Given the description of an element on the screen output the (x, y) to click on. 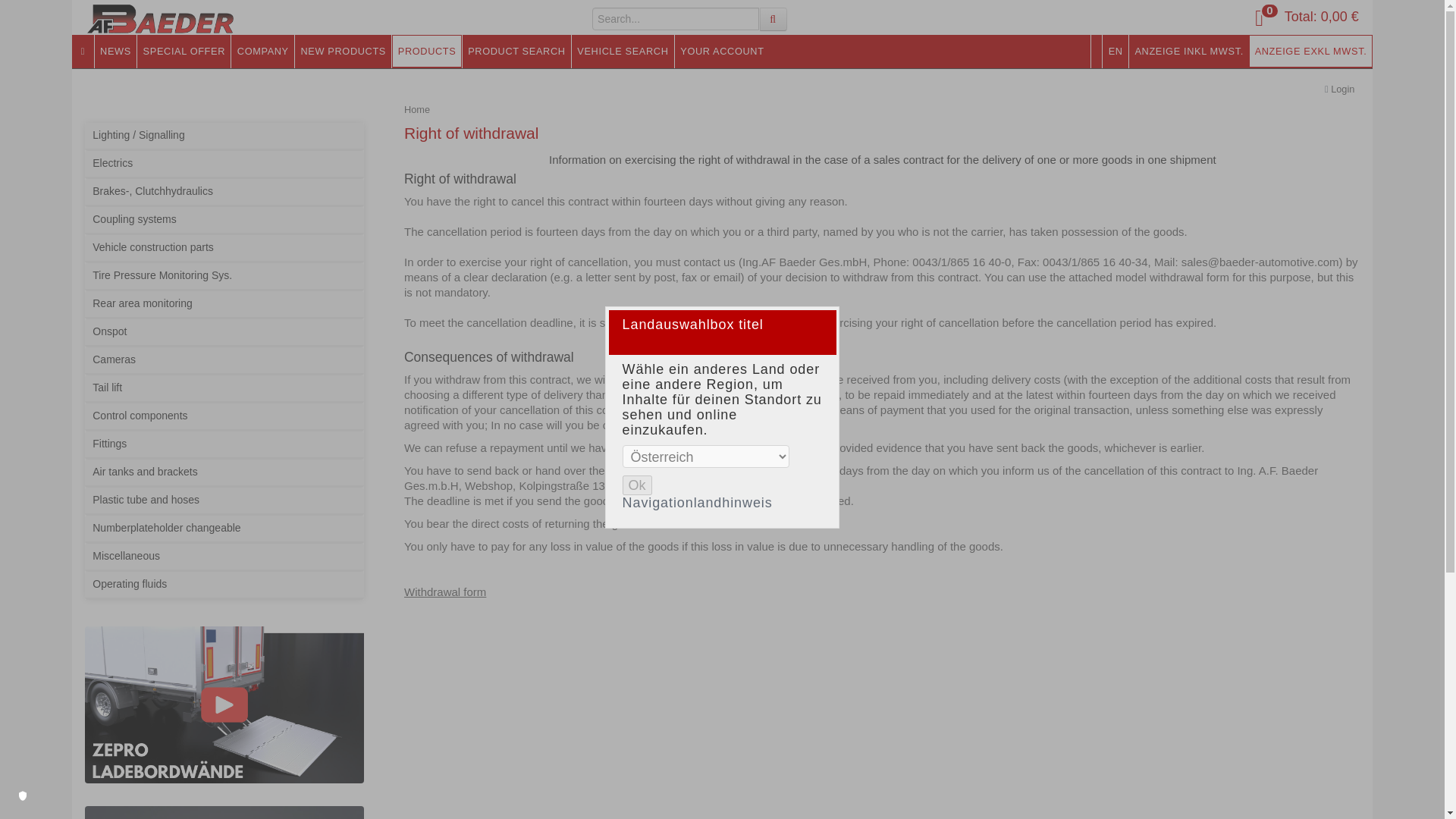
NEWS (115, 51)
Cameras (223, 361)
Login (1342, 89)
Onspot (223, 333)
Air tanks and brackets (223, 473)
Miscellaneous (223, 557)
COMPANY (262, 51)
Operating fluids (223, 585)
Fittings (223, 445)
SPECIAL OFFER (183, 51)
Tire Pressure Monitoring Sys. (223, 276)
NEW PRODUCTS (343, 51)
ANZEIGE INKL MWST. (1189, 51)
Vehicle construction parts (223, 248)
Numberplateholder changeable (223, 529)
